Given the description of an element on the screen output the (x, y) to click on. 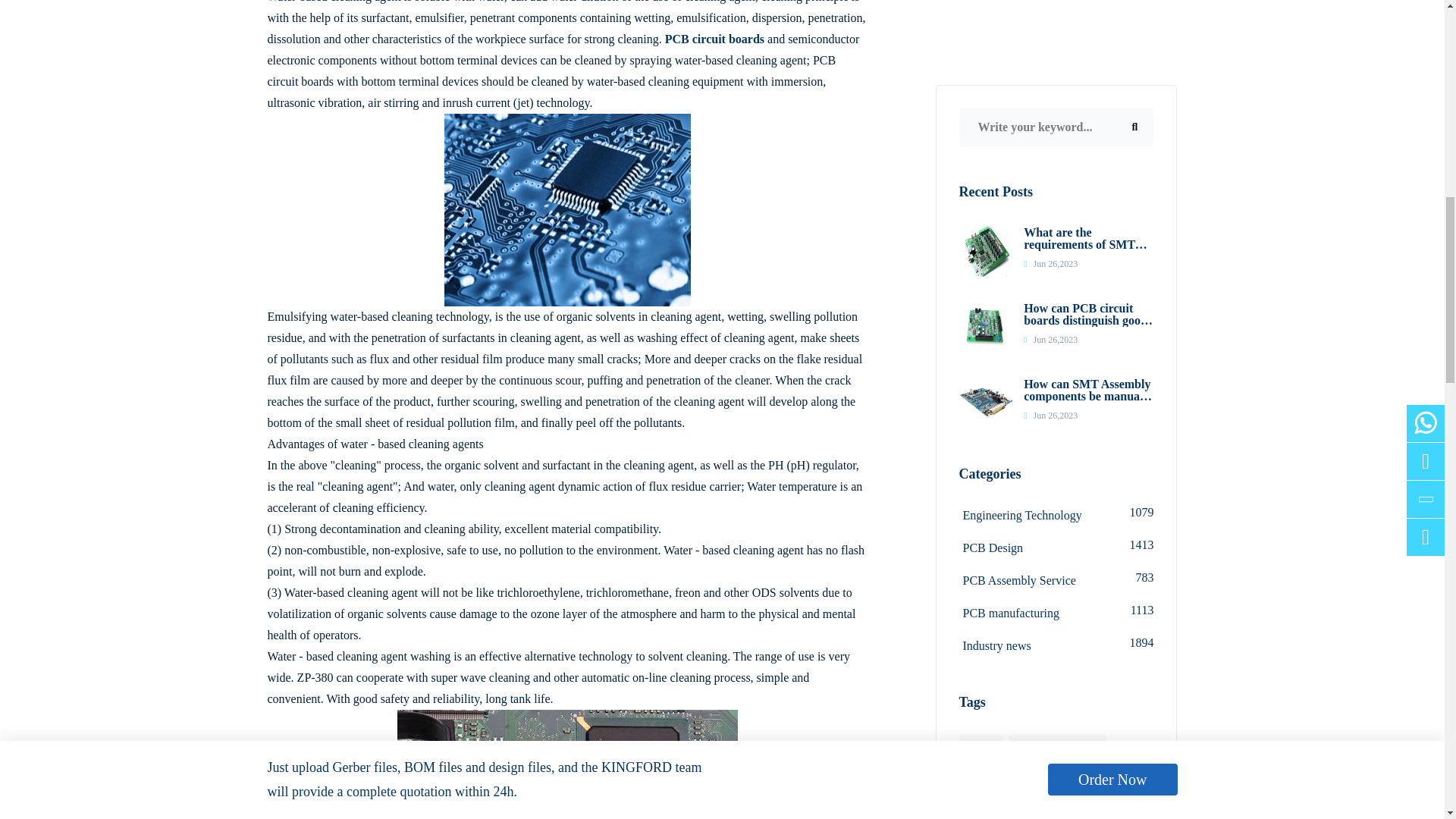
PCB products (567, 209)
PCB products (567, 764)
